Given the description of an element on the screen output the (x, y) to click on. 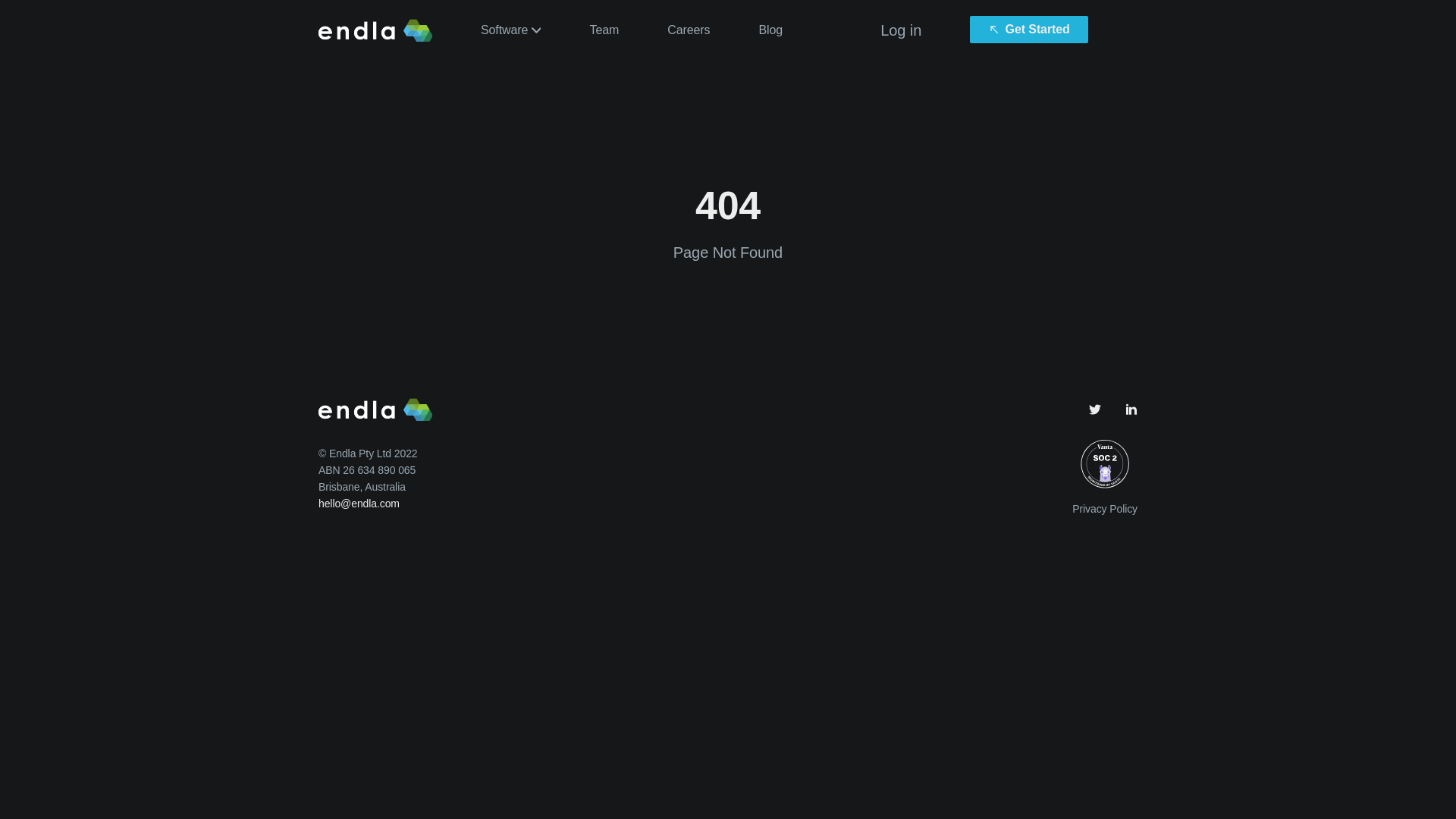
Log in Element type: text (900, 29)
Get Started Element type: text (1028, 29)
Privacy Policy Element type: text (1104, 508)
Team Element type: text (603, 30)
Careers Element type: text (688, 30)
Blog Element type: text (770, 30)
hello@endla.com Element type: text (358, 503)
Software Element type: text (510, 30)
